Given the description of an element on the screen output the (x, y) to click on. 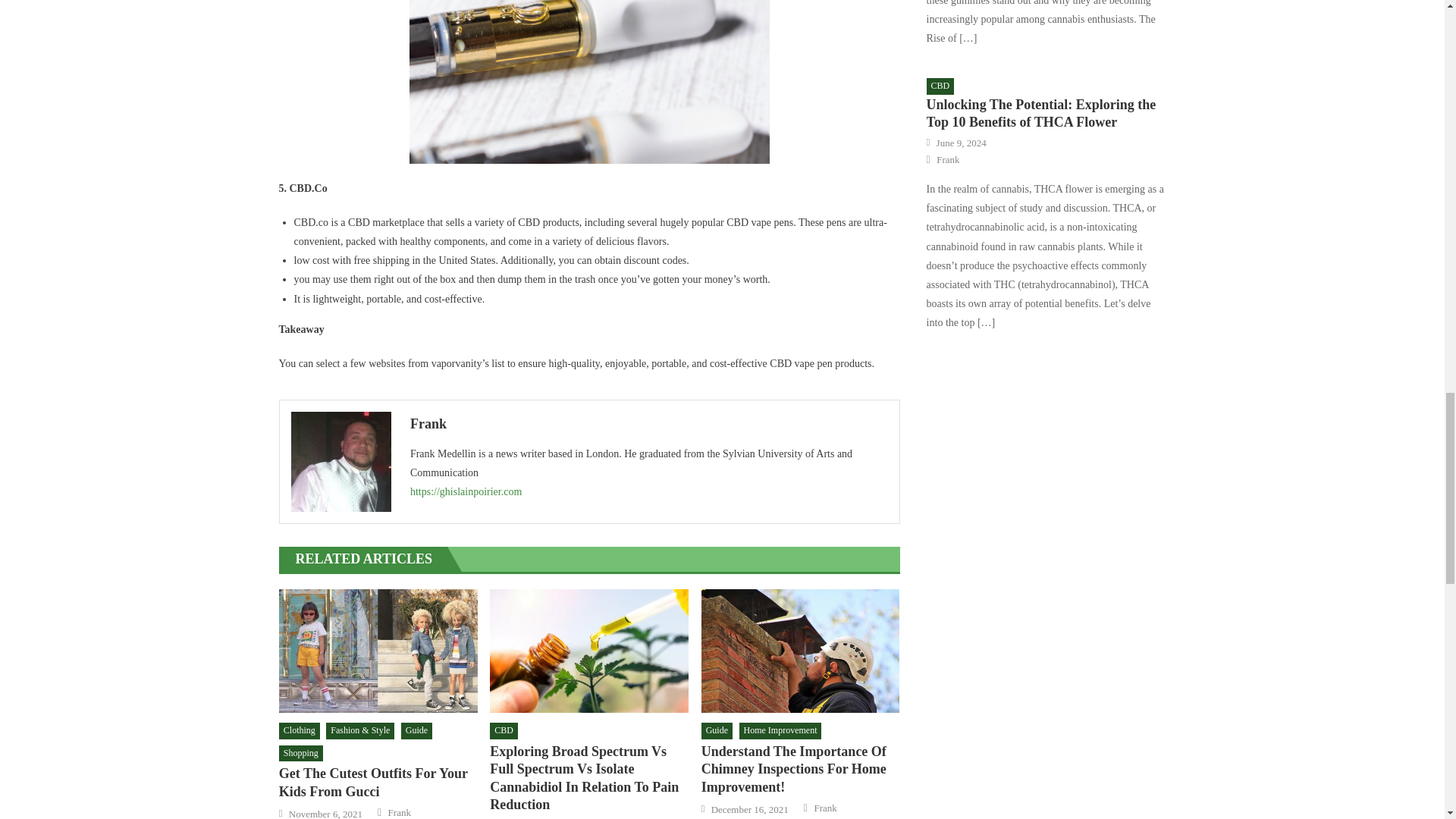
Clothing (299, 730)
November 6, 2021 (325, 813)
Get The Cutest Outfits For Your Kids From Gucci (378, 782)
Shopping (301, 753)
Frank (649, 423)
Guide (416, 730)
Get The Cutest Outfits For Your Kids From Gucci (378, 650)
Frank (399, 812)
CBD (503, 730)
